Given the description of an element on the screen output the (x, y) to click on. 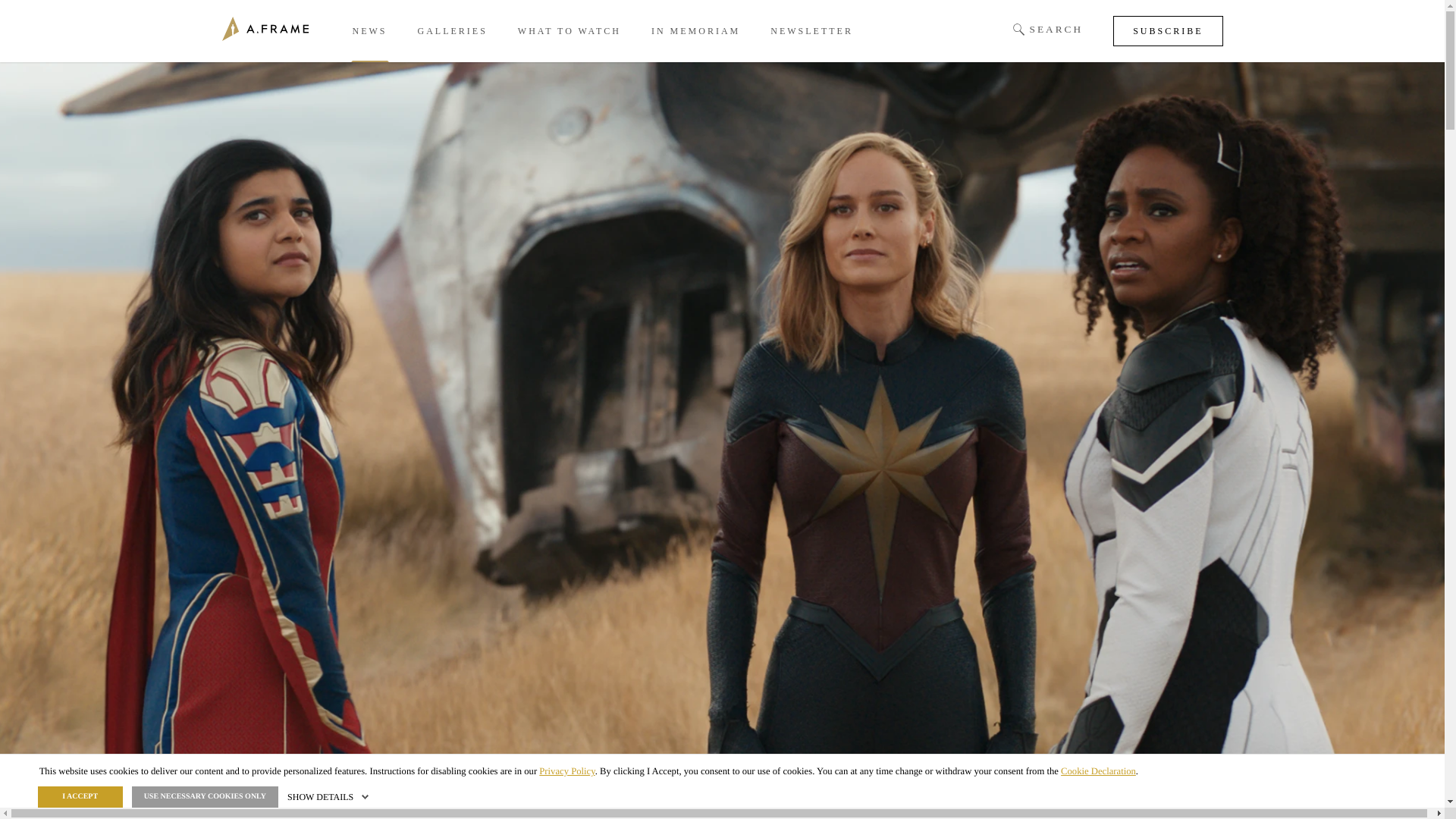
USE NECESSARY COOKIES ONLY (205, 796)
I ACCEPT (79, 796)
SHOW DETAILS (329, 797)
Cookie Declaration (1098, 770)
Privacy Policy (566, 770)
